Given the description of an element on the screen output the (x, y) to click on. 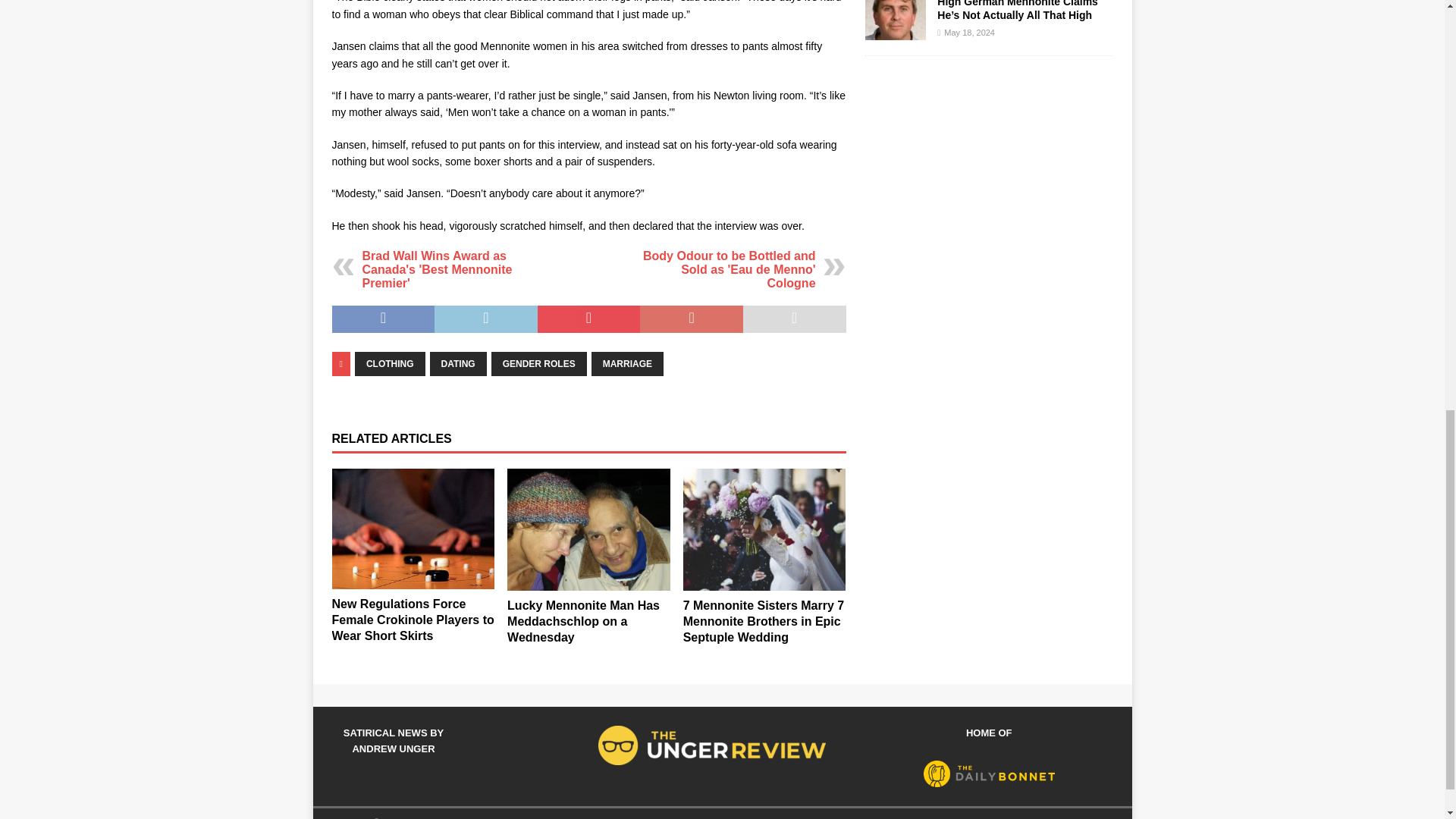
Brad Wall Wins Award as Canada's 'Best Mennonite Premier' (437, 269)
Lucky Mennonite Man Has Meddachschlop on a Wednesday (582, 620)
Lucky Mennonite Man Has Meddachschlop on a Wednesday (587, 529)
Body Odour to be Bottled and Sold as 'Eau de Menno' Cologne (729, 269)
